Given the description of an element on the screen output the (x, y) to click on. 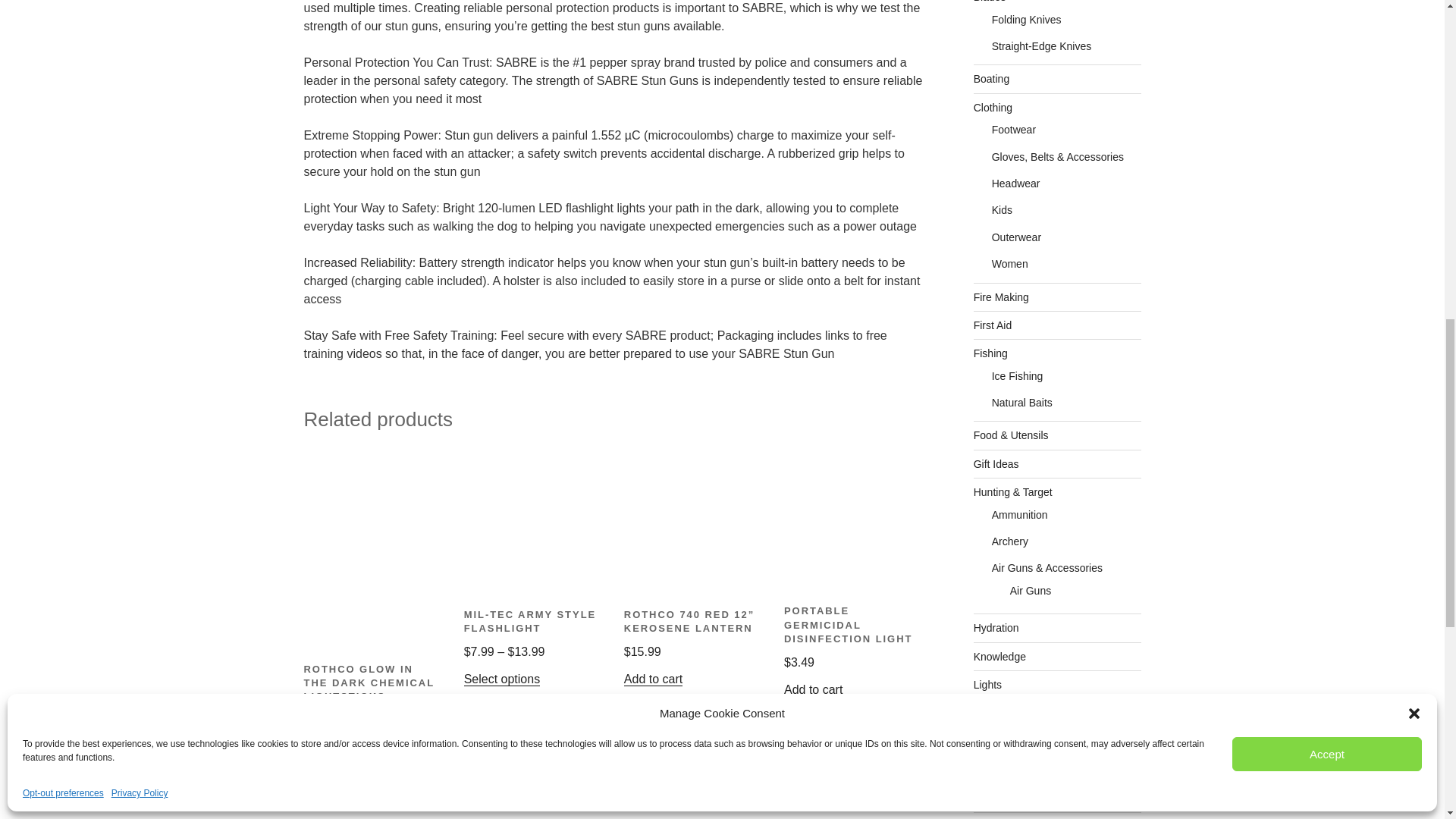
Add to cart (653, 678)
Select options (341, 747)
Select options (502, 678)
